Given the description of an element on the screen output the (x, y) to click on. 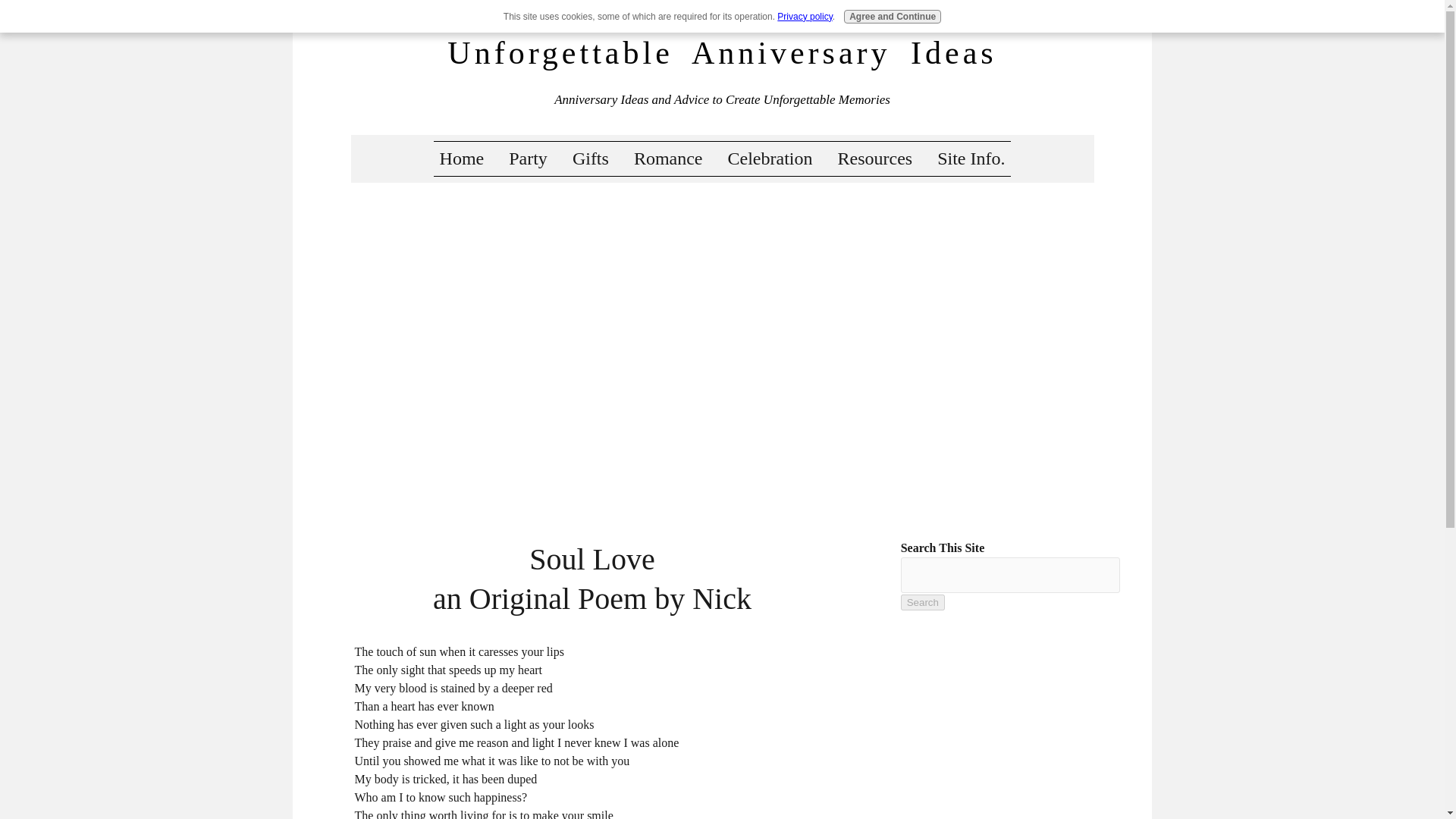
Privacy policy (804, 16)
Search (922, 602)
Agree and Continue (892, 16)
Search (922, 602)
Unforgettable Anniversary Ideas (720, 53)
Home (461, 158)
